Given the description of an element on the screen output the (x, y) to click on. 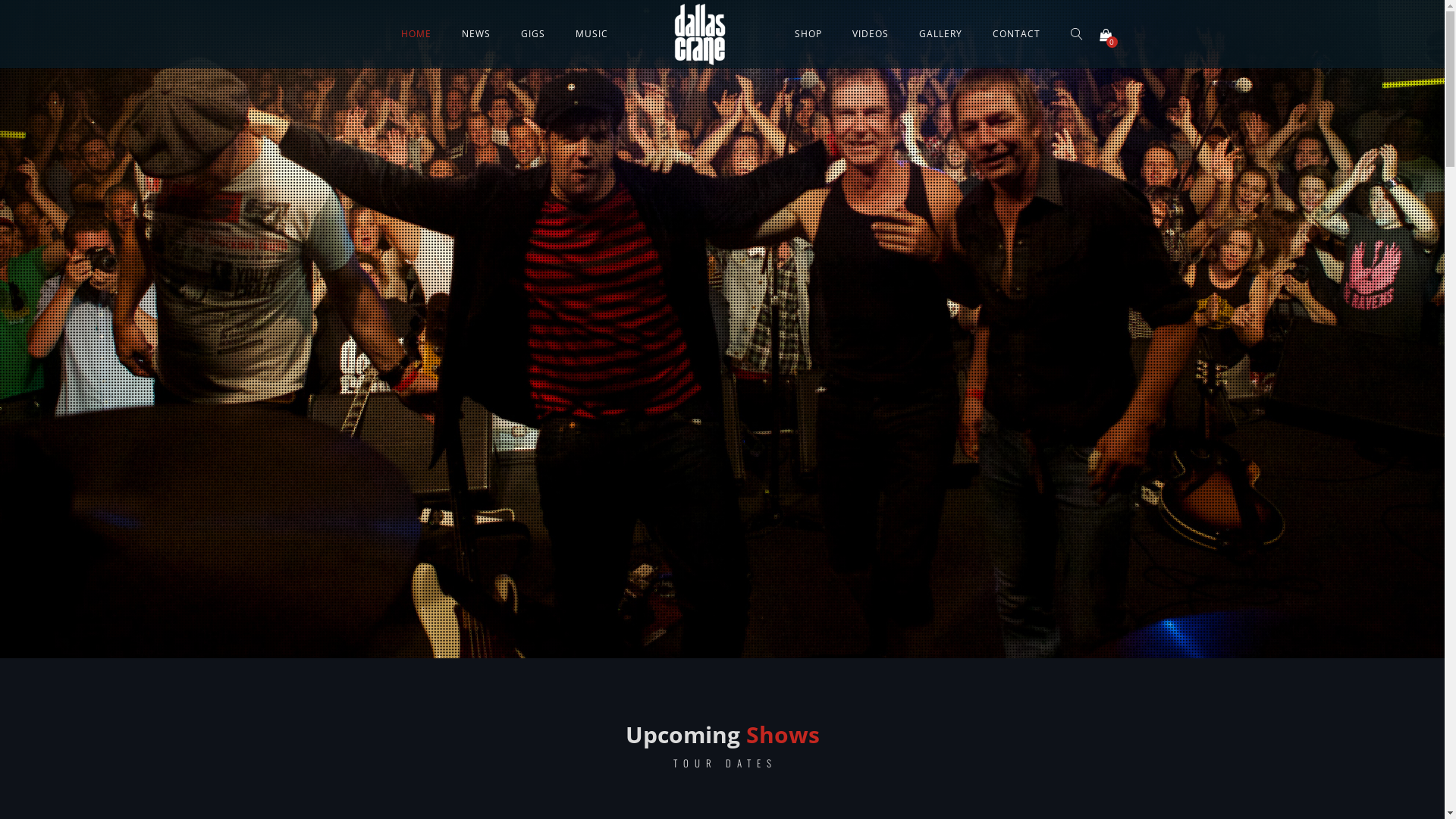
CONTACT Element type: text (1015, 33)
VIDEOS Element type: text (870, 33)
GALLERY Element type: text (940, 33)
MUSIC Element type: text (591, 33)
GIGS Element type: text (532, 33)
HOME Element type: text (416, 33)
SHOP Element type: text (808, 33)
NEWS Element type: text (476, 33)
0 Element type: text (1105, 33)
